Given the description of an element on the screen output the (x, y) to click on. 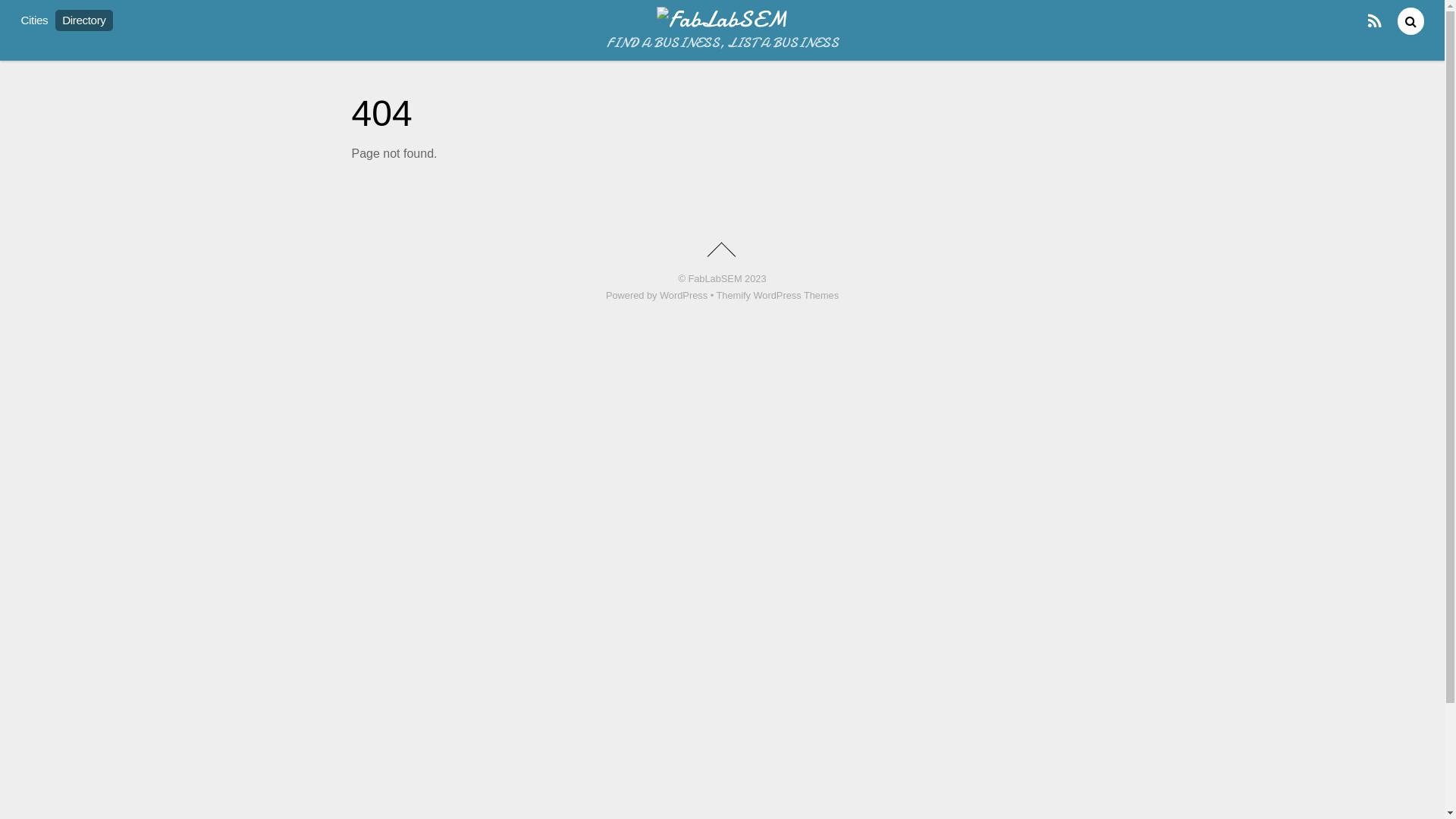
WordPress Element type: text (683, 295)
FabLabSEM Element type: text (714, 278)
FabLabSEM Element type: hover (721, 18)
Directory Element type: text (83, 20)
FabLabSEM Element type: hover (721, 18)
Cities Element type: text (34, 20)
Themify WordPress Themes Element type: text (776, 295)
